Given the description of an element on the screen output the (x, y) to click on. 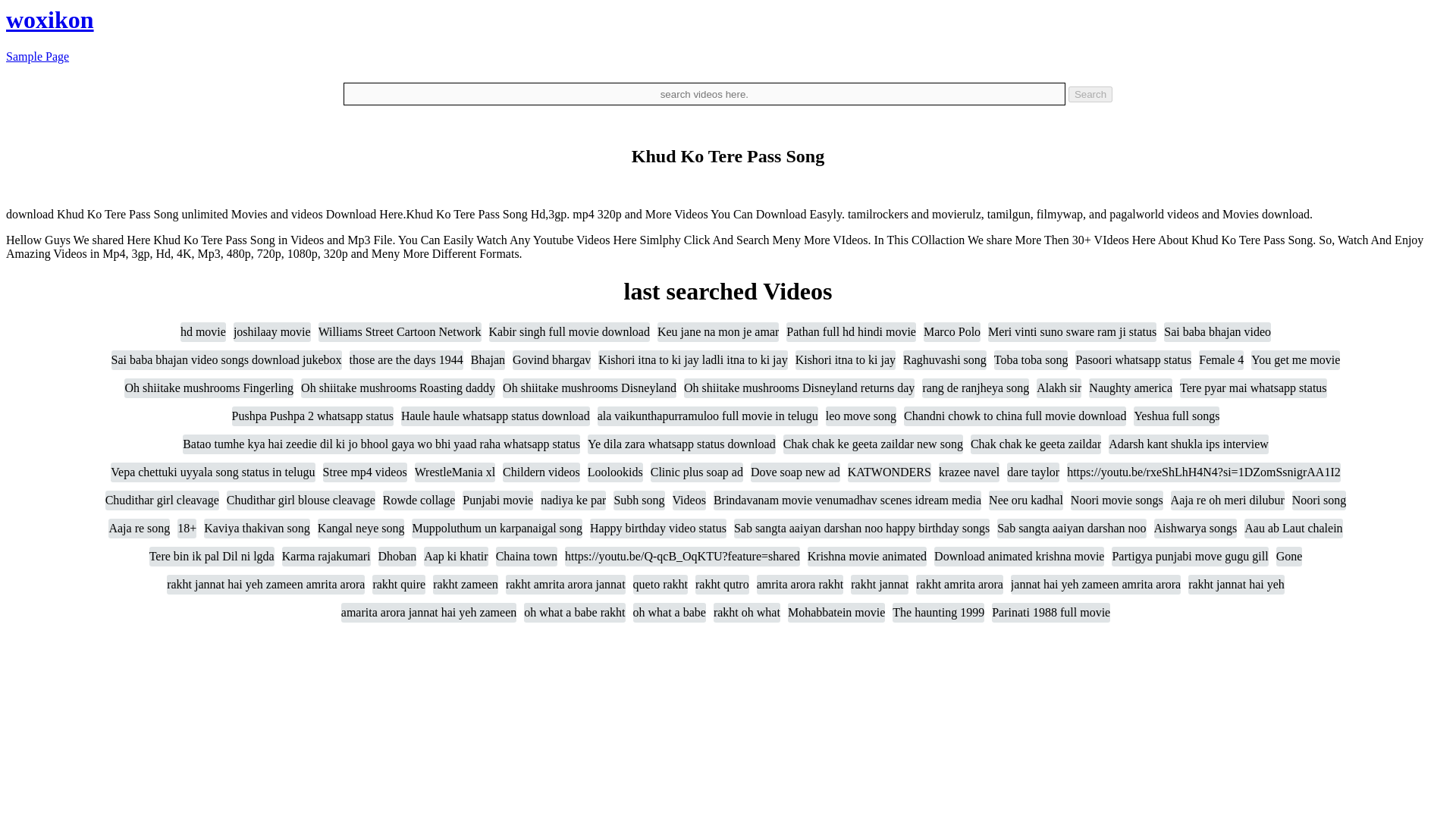
hd movie (202, 332)
joshilaay movie (271, 332)
Oh shiitake mushrooms Disneyland returns day (799, 388)
Chandni chowk to china full movie download (1014, 415)
Chak chak ke geeta zaildar new song (872, 444)
those are the days 1944 (406, 360)
Toba toba song (1031, 360)
ala vaikunthapurramuloo full movie in telugu (707, 415)
Kishori itna to ki jay (844, 360)
Keu jane na mon je amar (718, 332)
Kabir singh full movie download (569, 332)
Yeshua full songs (1177, 415)
woxikon (49, 19)
Oh shiitake mushrooms Disneyland (589, 388)
